Given the description of an element on the screen output the (x, y) to click on. 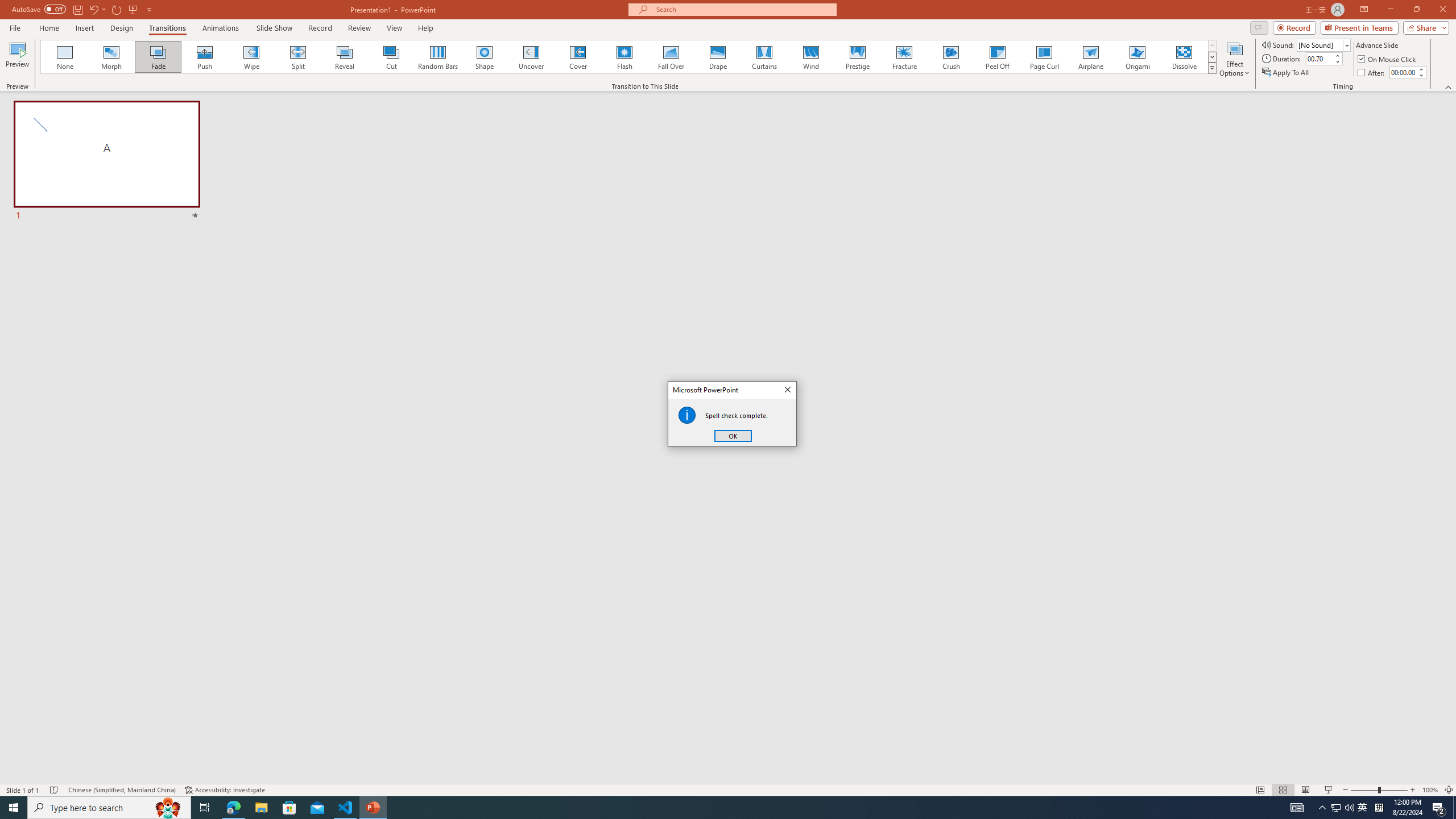
Push (205, 56)
Peel Off (997, 56)
Fracture (903, 56)
